Given the description of an element on the screen output the (x, y) to click on. 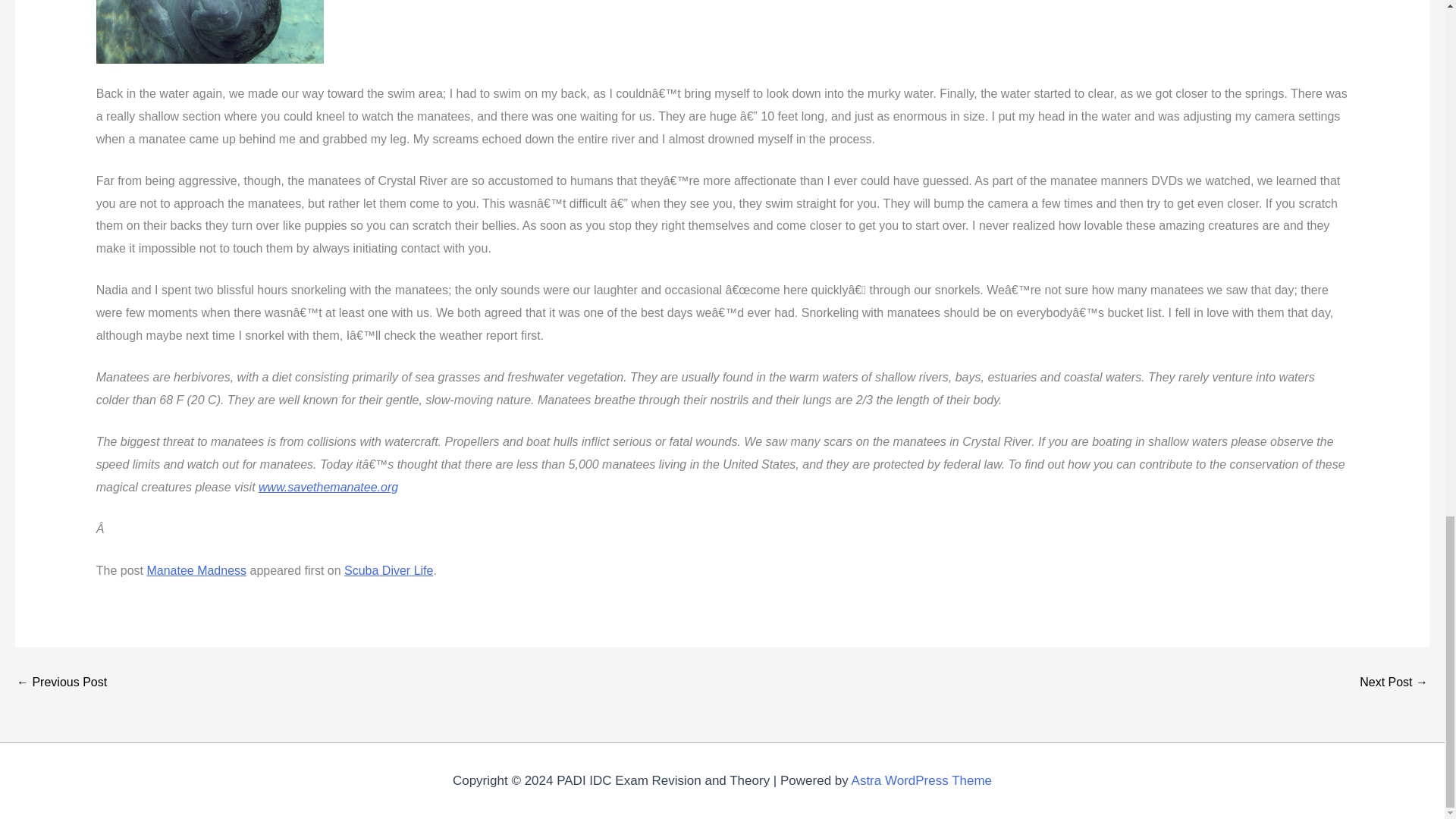
Prehistoric Whale Skull Discovered in Virginia Swamp (61, 682)
